Given the description of an element on the screen output the (x, y) to click on. 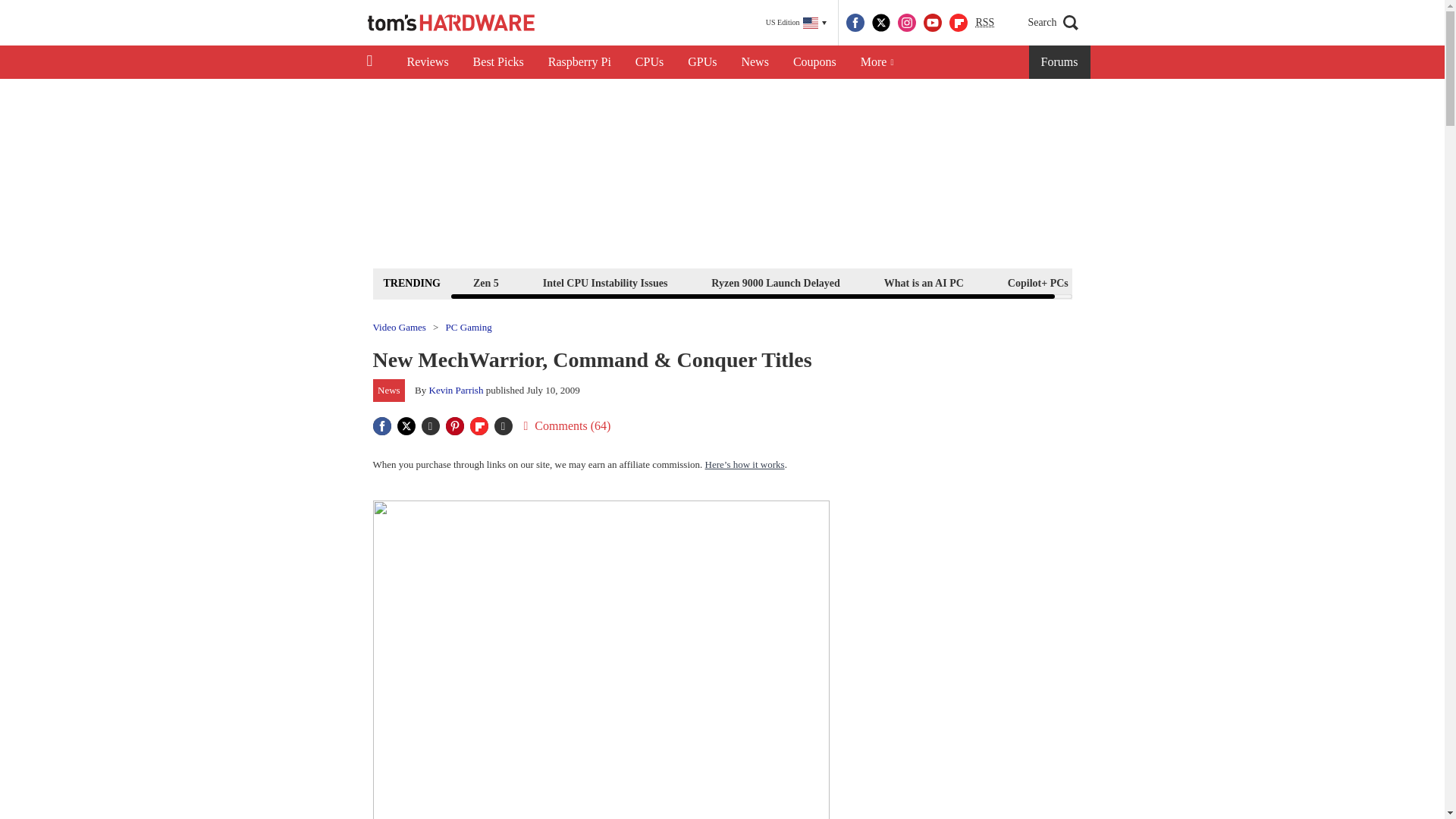
Raspberry Pi (579, 61)
Coupons (814, 61)
Best Picks (498, 61)
Zen 5 (485, 282)
Reviews (427, 61)
Forums (1059, 61)
Really Simple Syndication (984, 21)
News (754, 61)
US Edition (796, 22)
GPUs (702, 61)
